Given the description of an element on the screen output the (x, y) to click on. 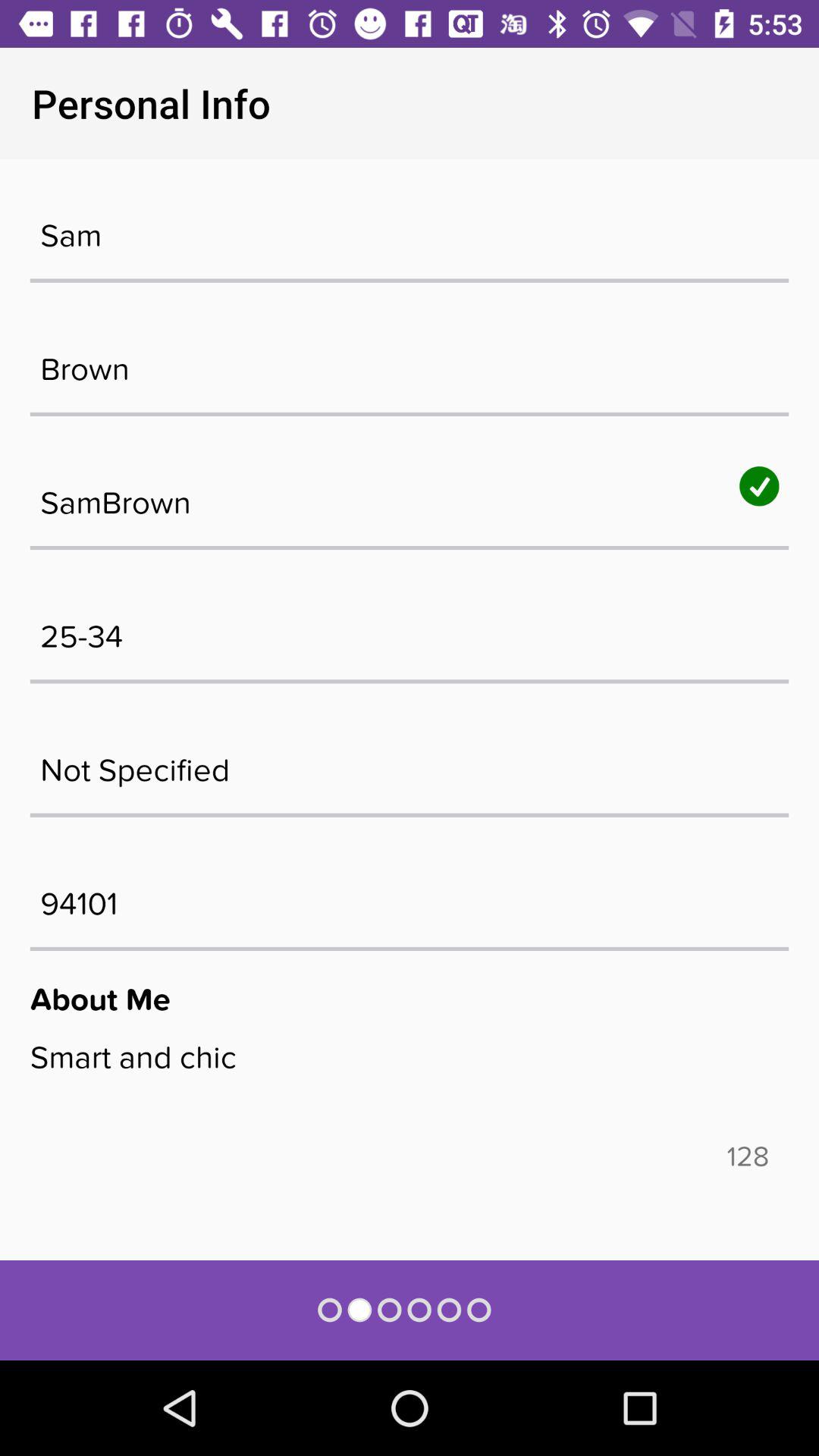
turn on the sambrown (409, 495)
